Given the description of an element on the screen output the (x, y) to click on. 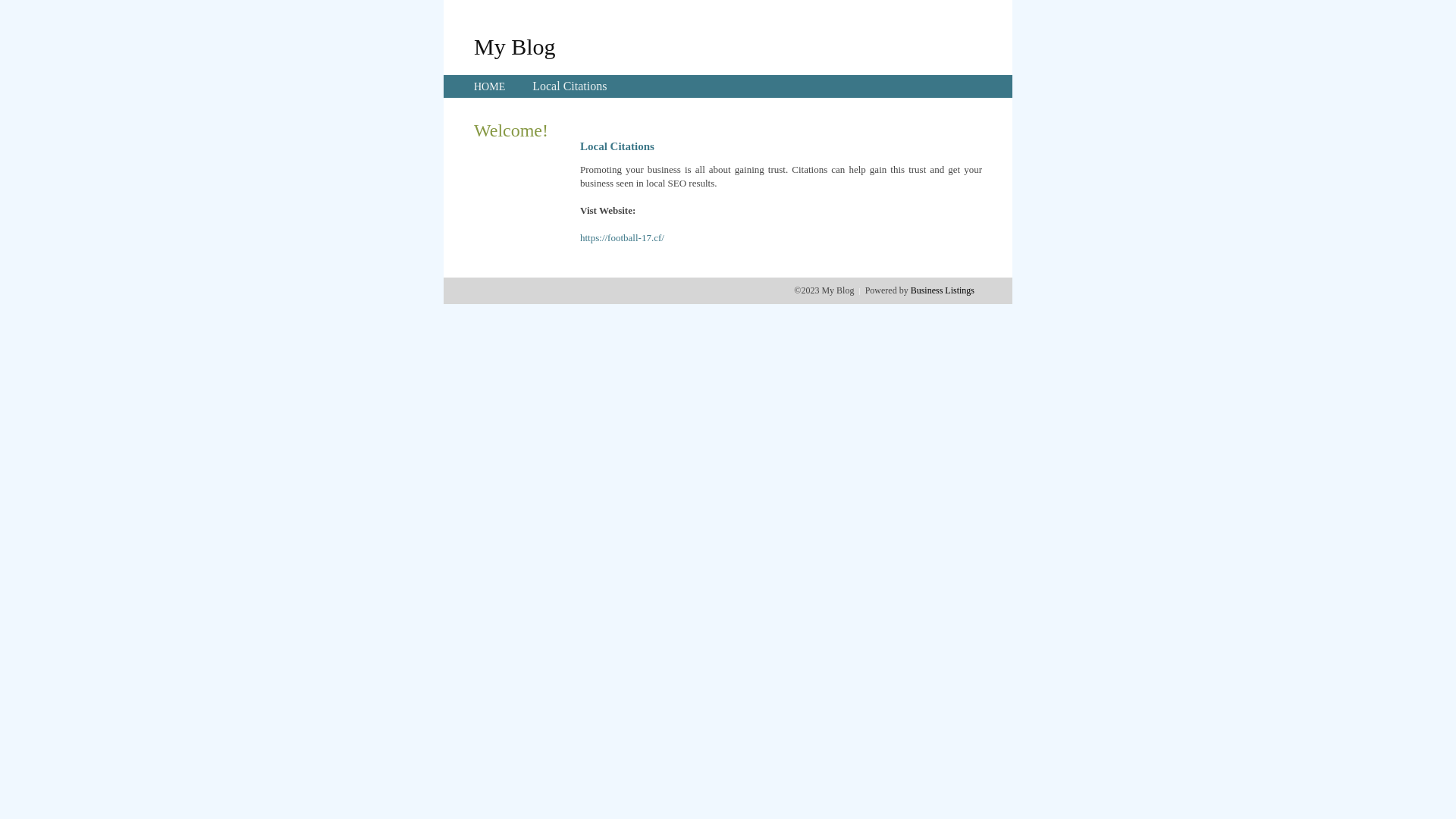
HOME Element type: text (489, 86)
Business Listings Element type: text (942, 290)
https://football-17.cf/ Element type: text (622, 237)
My Blog Element type: text (514, 46)
Local Citations Element type: text (569, 85)
